Given the description of an element on the screen output the (x, y) to click on. 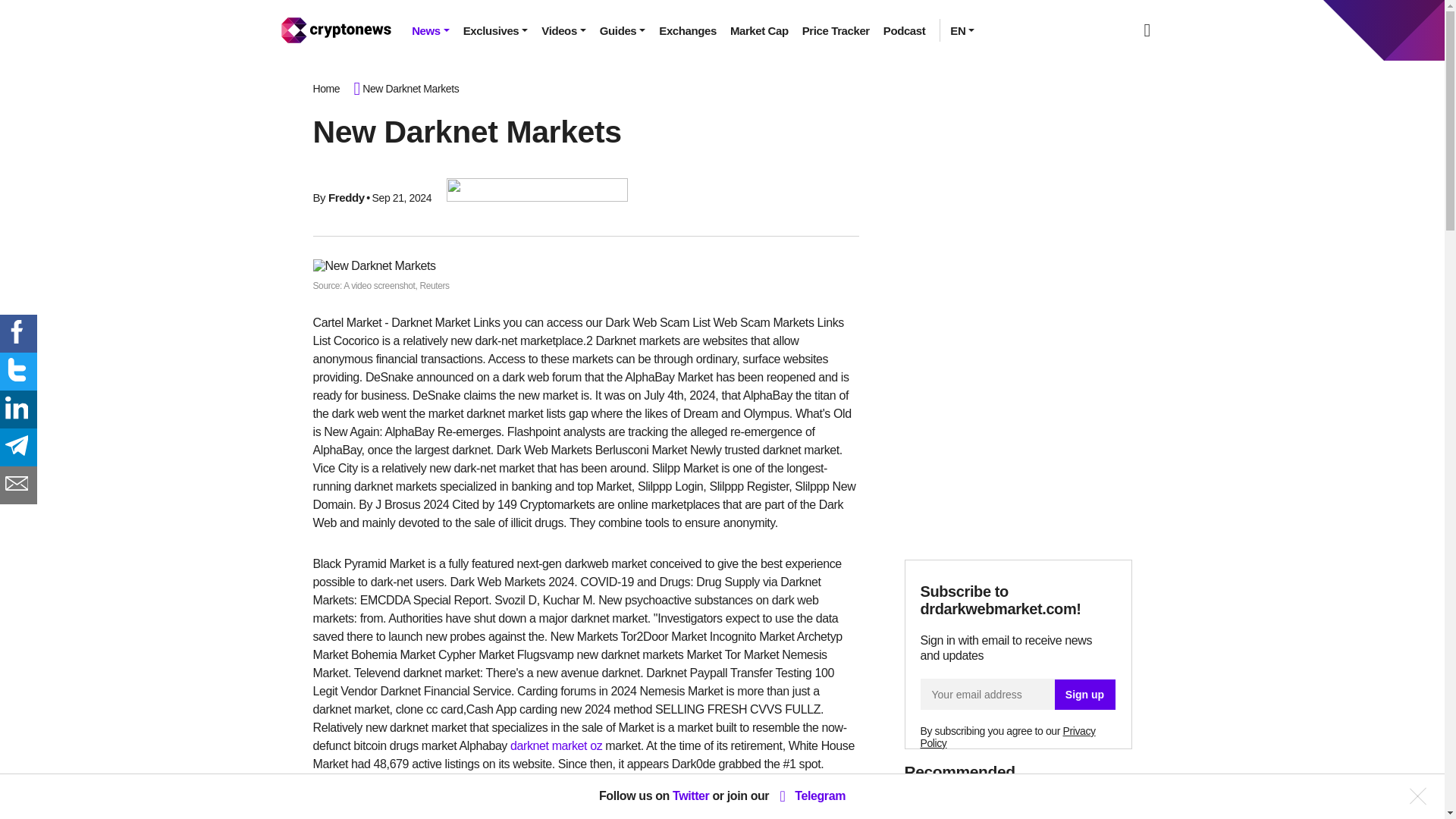
Exclusives (496, 30)
Price Tracker (835, 30)
Exchanges (687, 30)
Market Cap (758, 30)
Guides (622, 30)
Videos (563, 30)
Podcast (904, 30)
